Given the description of an element on the screen output the (x, y) to click on. 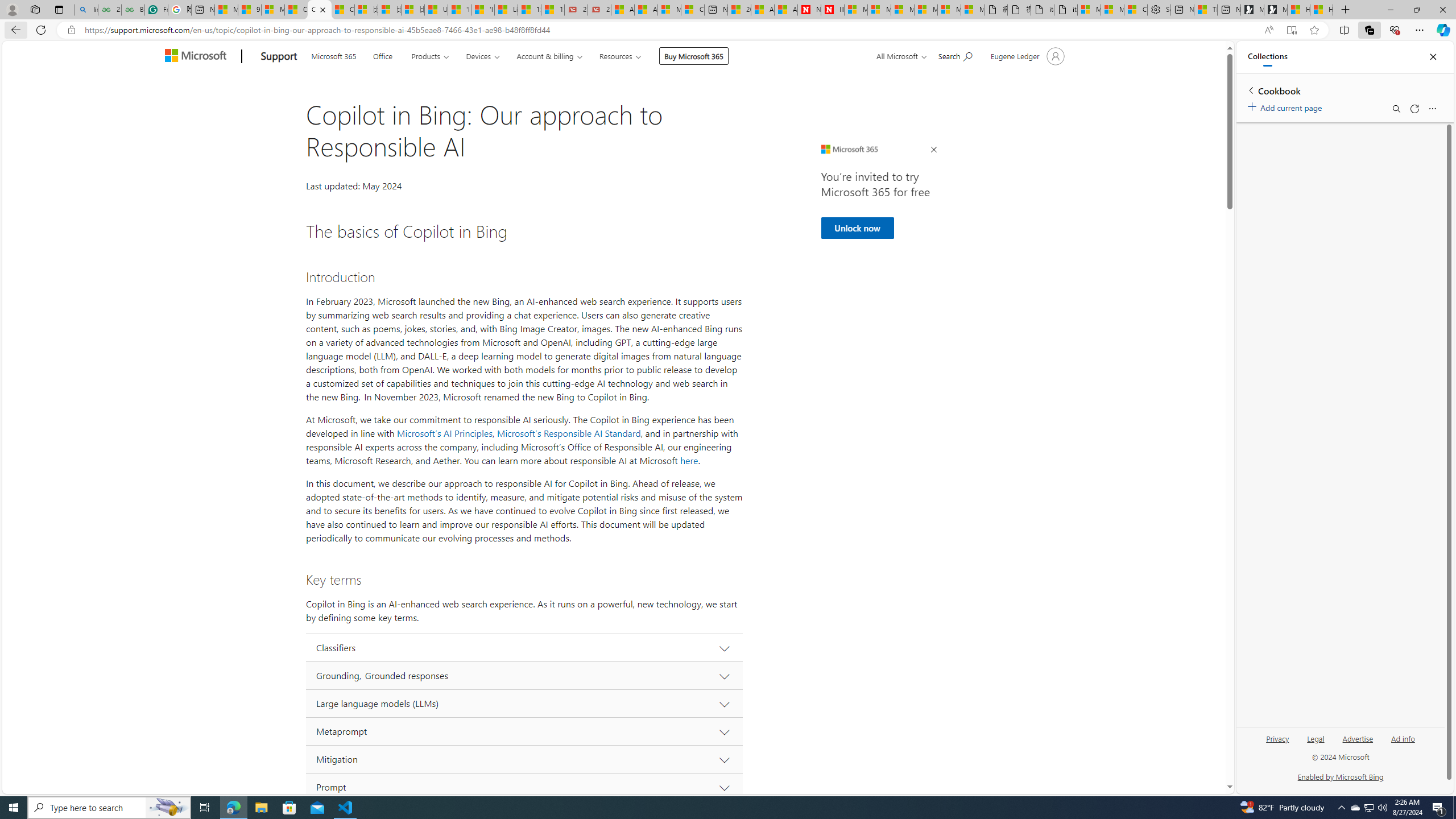
View site information (70, 29)
Close tab (322, 9)
Minimize (1390, 9)
Split screen (1344, 29)
15 Ways Modern Life Contradicts the Teachings of Jesus (552, 9)
Legal (1315, 738)
Microsoft 365 (334, 54)
Consumer Health Data Privacy Policy (1135, 9)
Buy Microsoft 365 (693, 55)
Enter Immersive Reader (F9) (1291, 29)
Workspaces (34, 9)
